Given the description of an element on the screen output the (x, y) to click on. 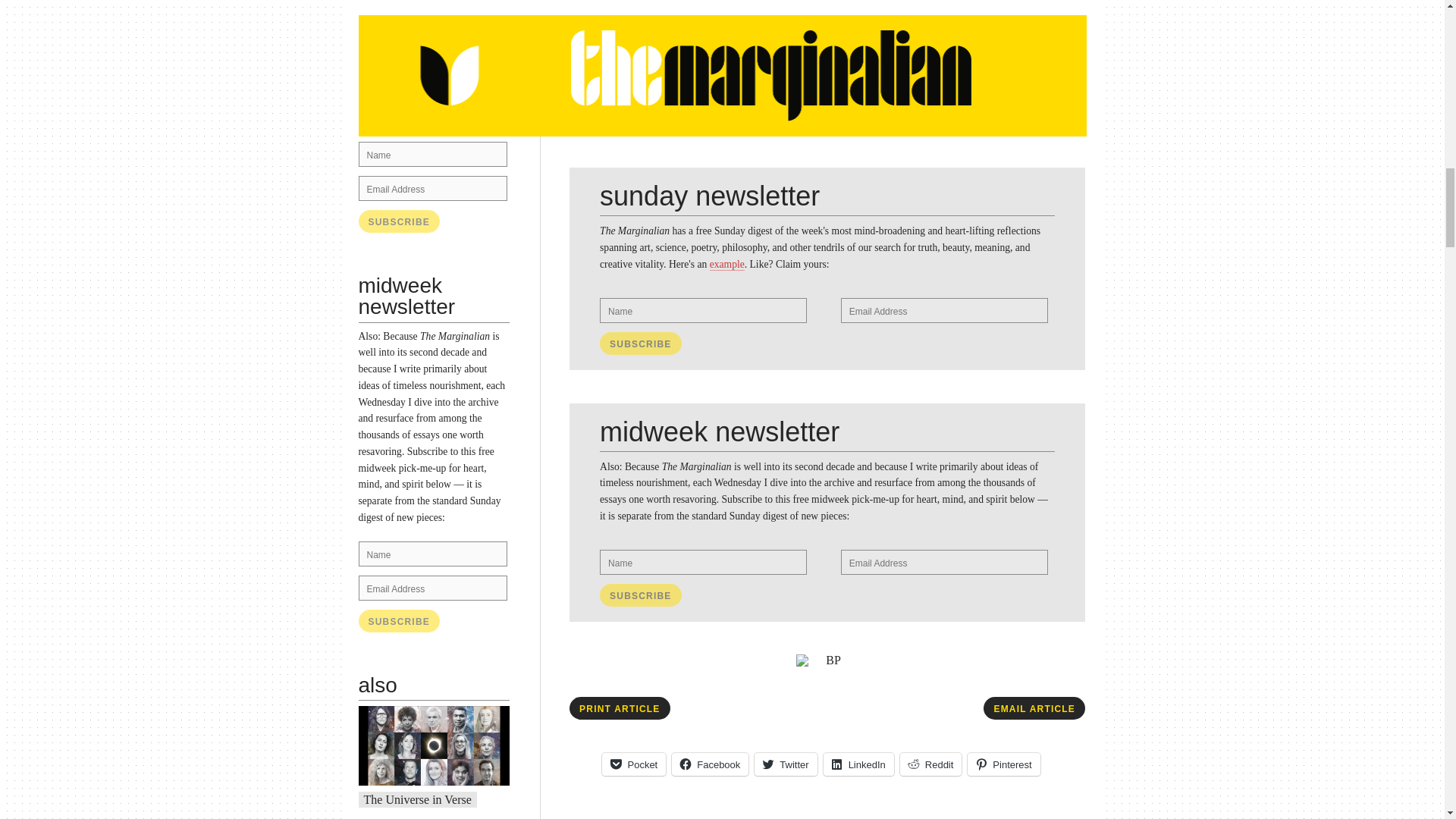
Subscribe (398, 220)
Subscribe (640, 594)
Click to share on Pocket (633, 763)
Click to share on Twitter (785, 763)
Subscribe (398, 620)
Click to share on LinkedIn (858, 763)
Click to share on Pinterest (1003, 763)
Subscribe (398, 620)
example (449, 101)
Click to share on Reddit (930, 763)
Subscribe (640, 343)
Click to share on Facebook (709, 763)
Subscribe (398, 220)
The Universe in Verse (417, 799)
